Given the description of an element on the screen output the (x, y) to click on. 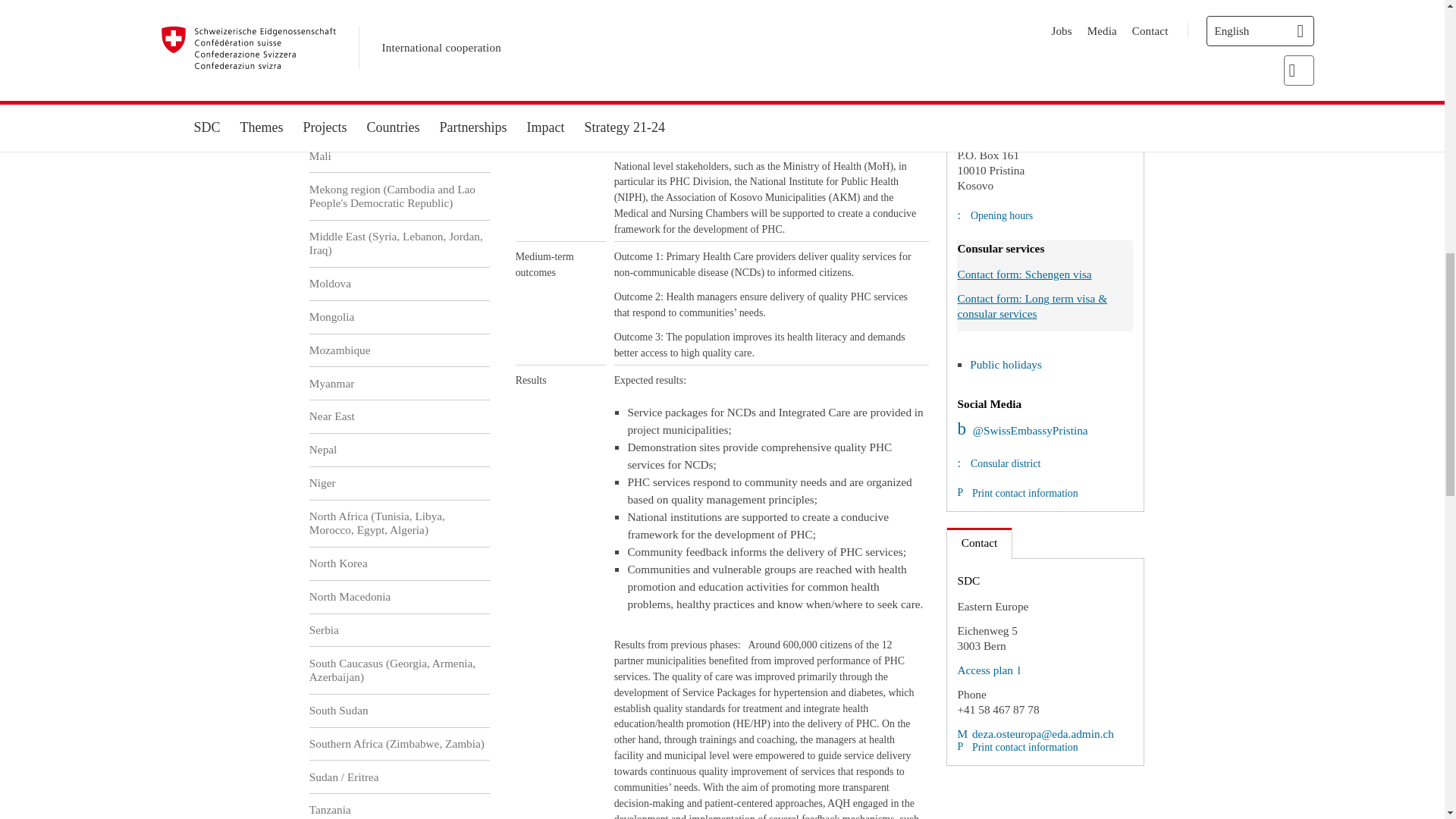
External Link (988, 669)
External Link (1021, 430)
External Link (980, 100)
External Link (1034, 733)
External Link (1063, 75)
